Given the description of an element on the screen output the (x, y) to click on. 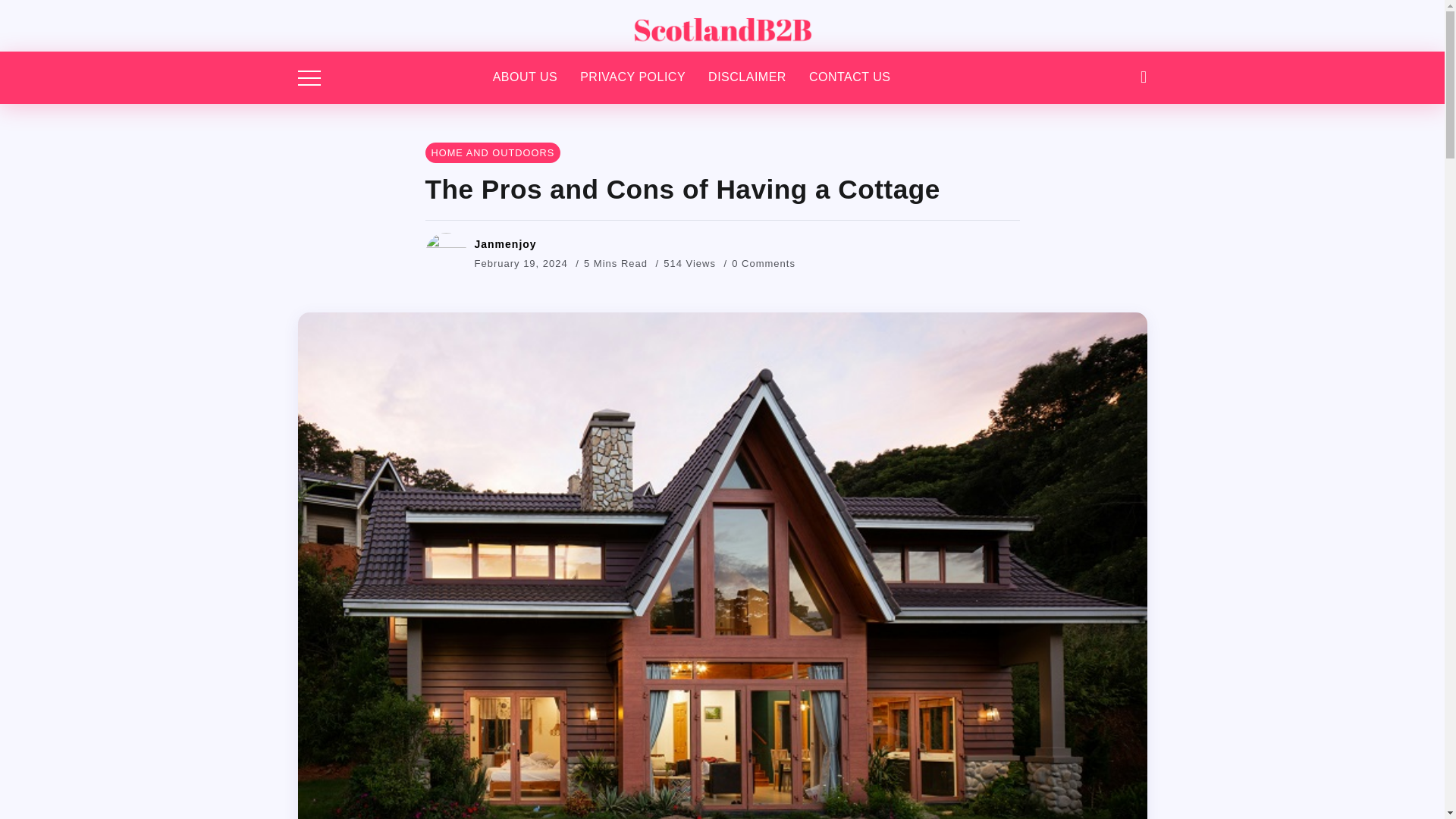
Scotlandb2b (721, 24)
CONTACT US (849, 77)
PRIVACY POLICY (632, 77)
DISCLAIMER (746, 77)
ABOUT US (525, 77)
